Given the description of an element on the screen output the (x, y) to click on. 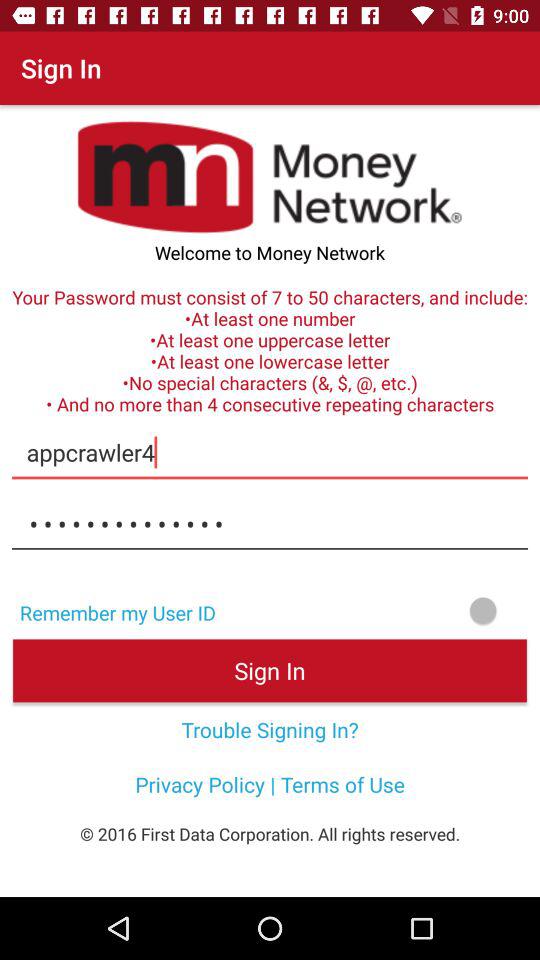
turn on the privacy policy terms item (270, 784)
